Given the description of an element on the screen output the (x, y) to click on. 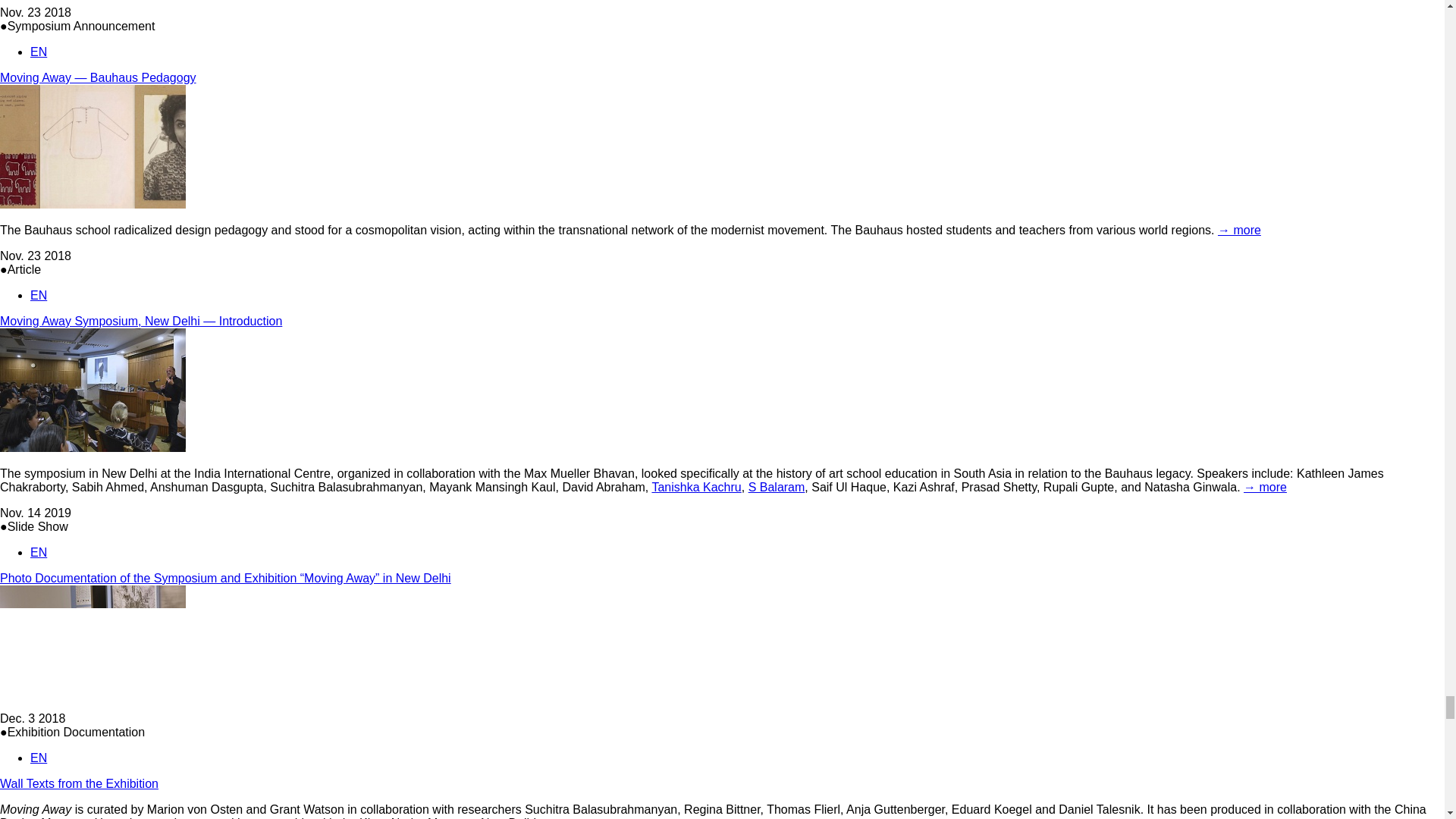
EN (38, 51)
